Given the description of an element on the screen output the (x, y) to click on. 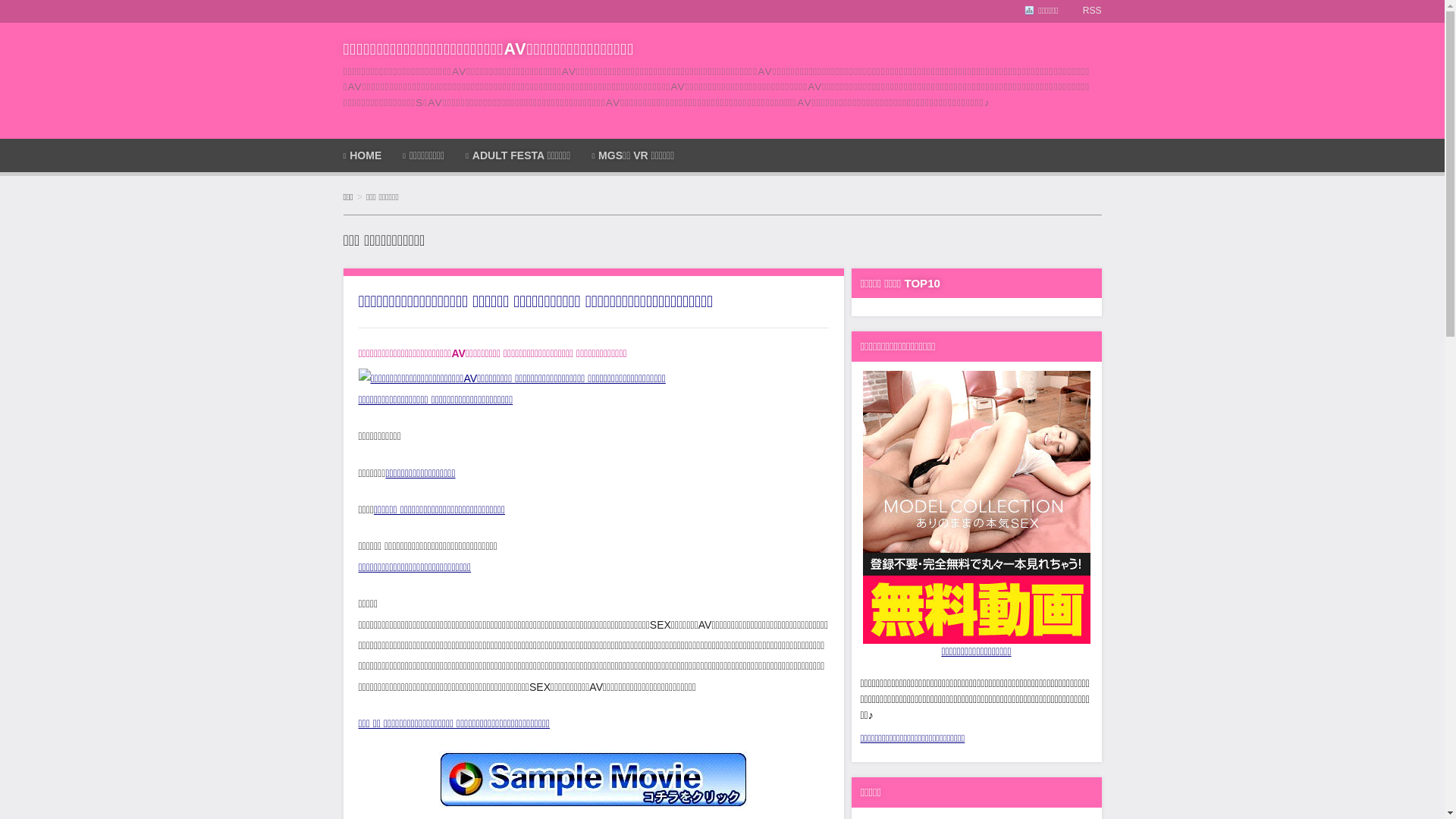
HOME Element type: text (365, 155)
